Given the description of an element on the screen output the (x, y) to click on. 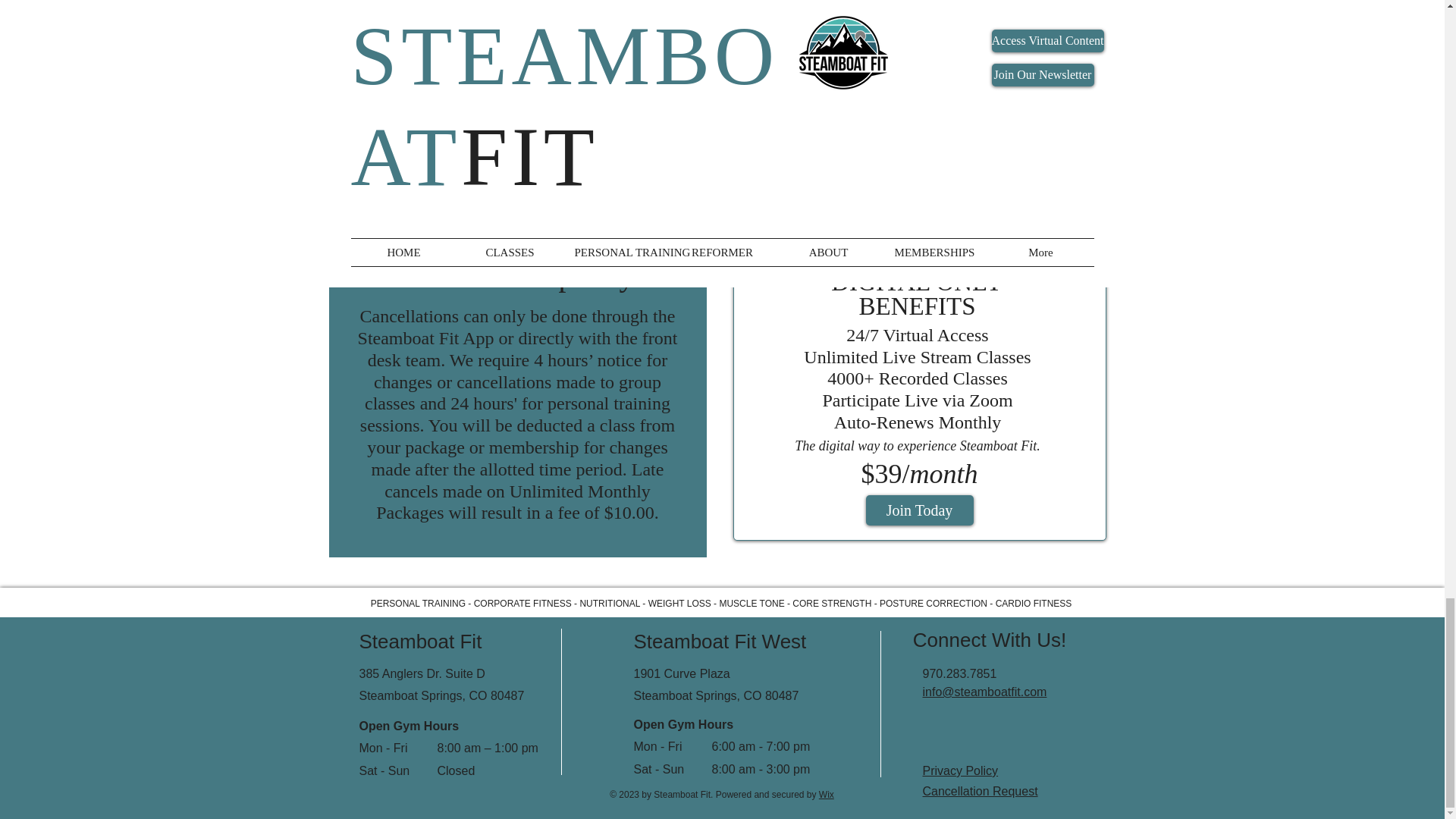
Join Today (920, 155)
Privacy Policy (959, 770)
Wix (826, 794)
Join Today (515, 132)
Cancellation Request (978, 790)
Join Today (920, 510)
